Given the description of an element on the screen output the (x, y) to click on. 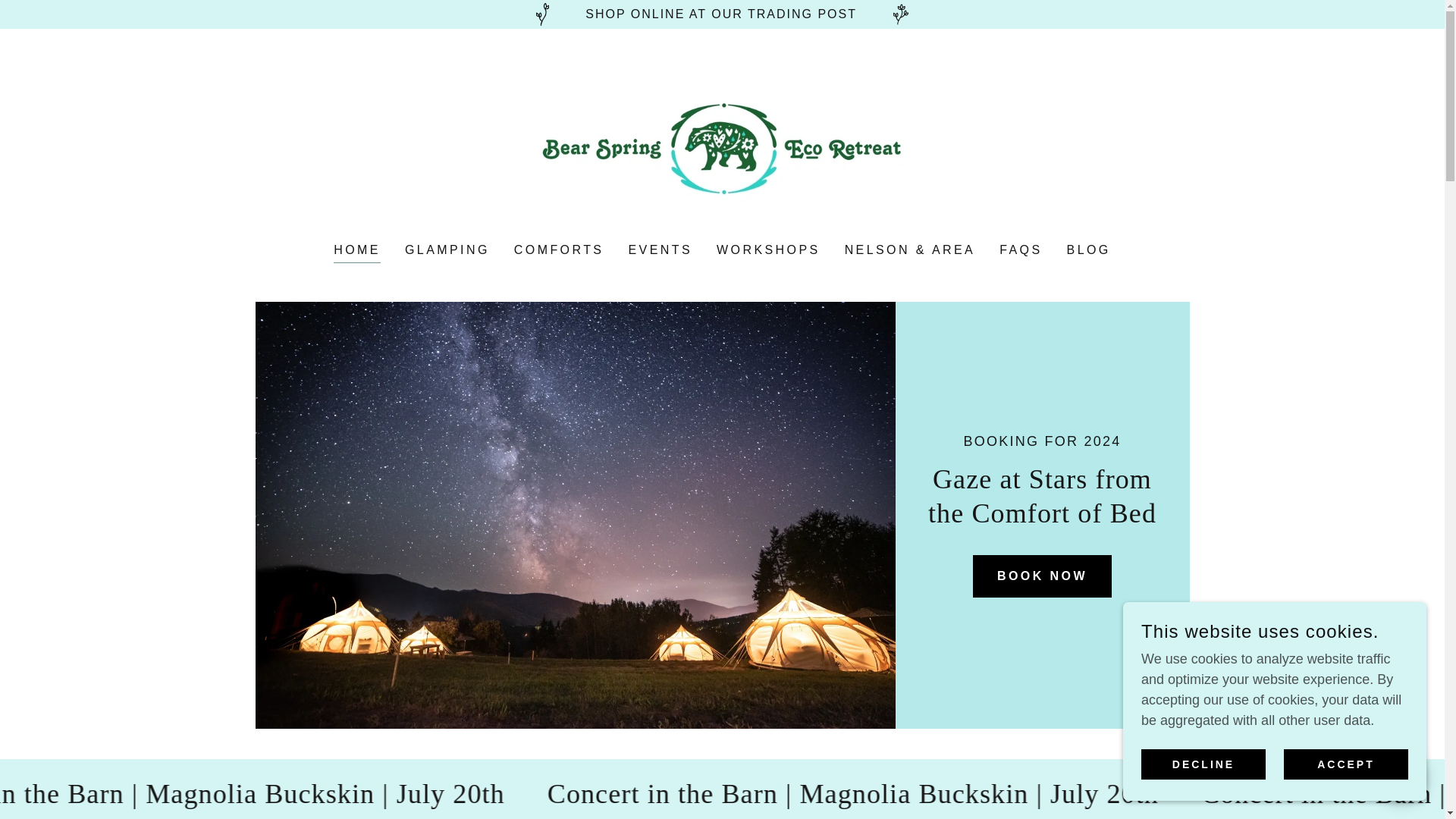
WORKSHOPS (768, 249)
FAQS (1020, 249)
COMFORTS (558, 249)
HOME (356, 251)
Bear Spring Eco (721, 145)
BLOG (1088, 249)
GLAMPING (447, 249)
BOOK NOW (1042, 576)
EVENTS (660, 249)
